Given the description of an element on the screen output the (x, y) to click on. 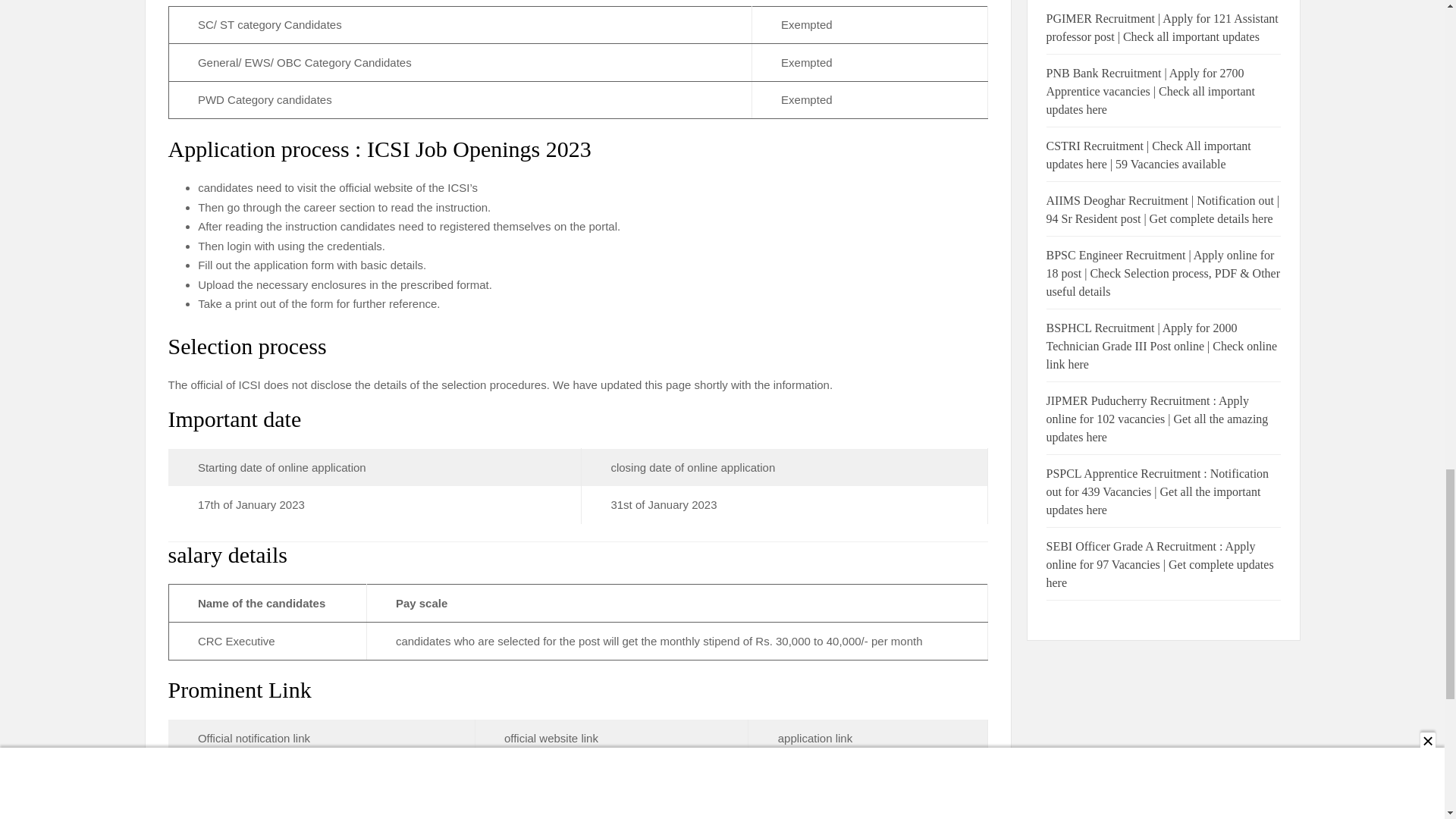
GET DETAILS (540, 775)
GET DETAILS (235, 775)
